Given the description of an element on the screen output the (x, y) to click on. 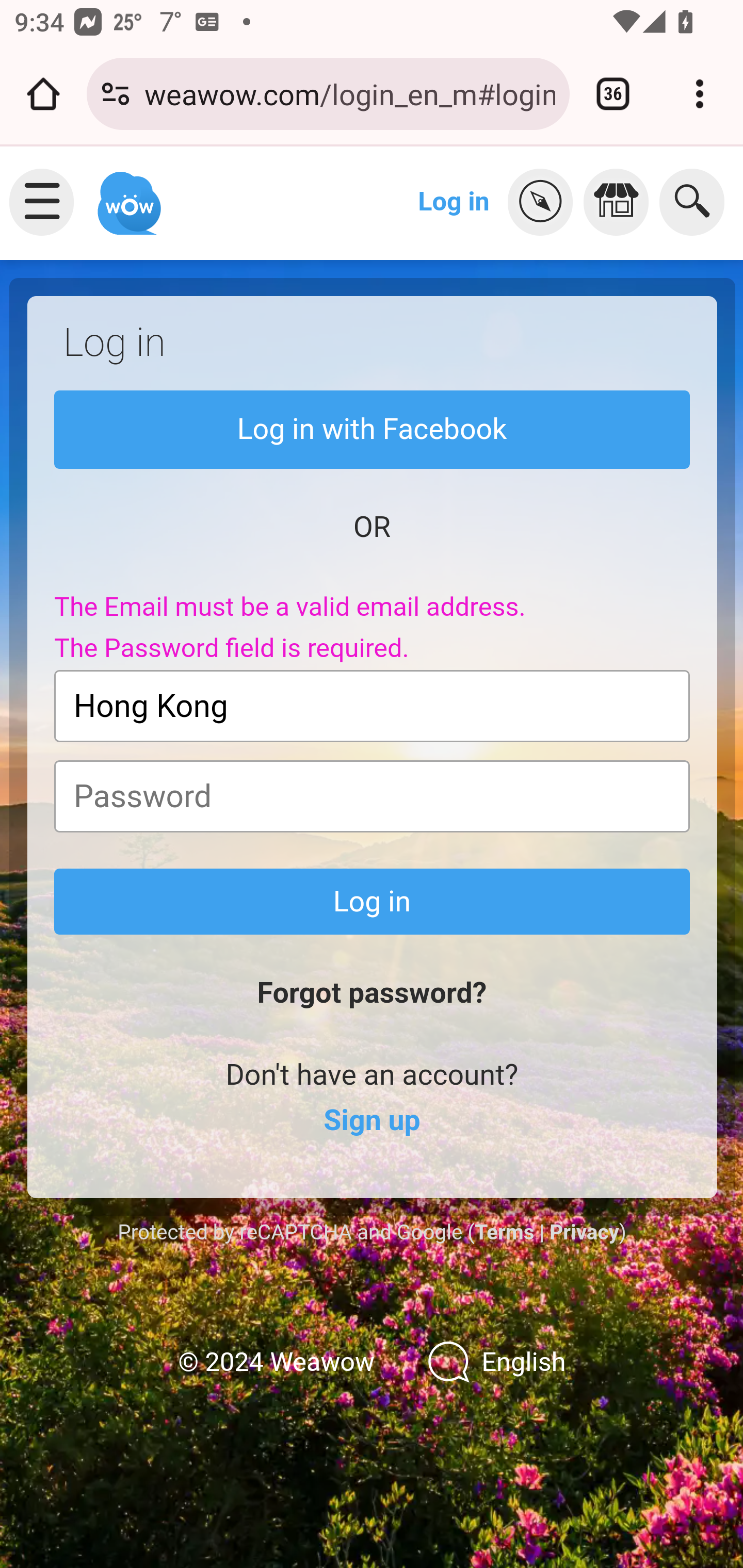
Open the home page (43, 93)
Connection is secure (115, 93)
Switch or close tabs (612, 93)
Customize and control Google Chrome (699, 93)
weawow.com/login_en_m#login (349, 92)
Weawow (127, 194)
 (545, 201)
 (621, 201)
Log in (453, 201)
Hong Kong (372, 706)
Log in (372, 902)
Forgot password? (371, 993)
Sign up (371, 1120)
Terms (503, 1231)
Privacy (583, 1231)
© 2024 Weawow (275, 1362)
